Given the description of an element on the screen output the (x, y) to click on. 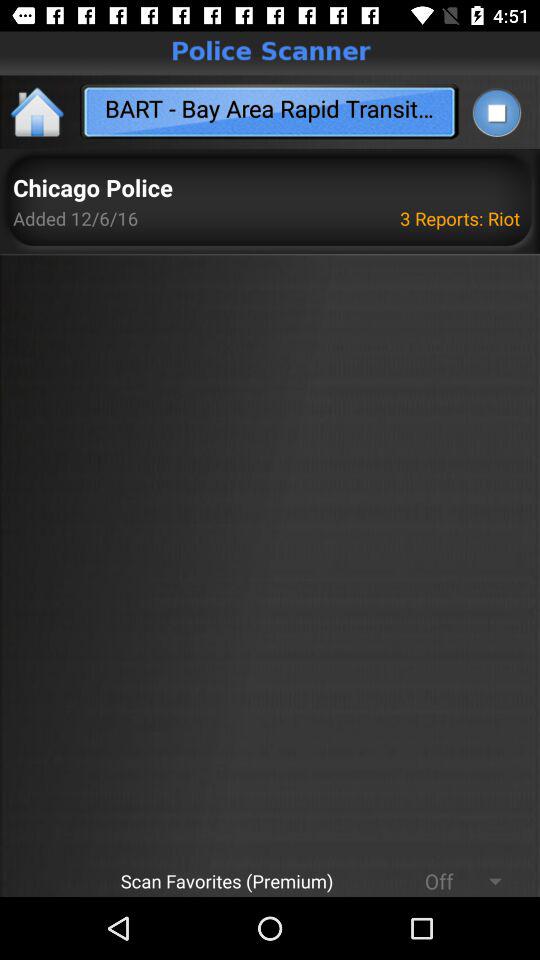
turn off icon next to 3 reports: riot icon (75, 218)
